Given the description of an element on the screen output the (x, y) to click on. 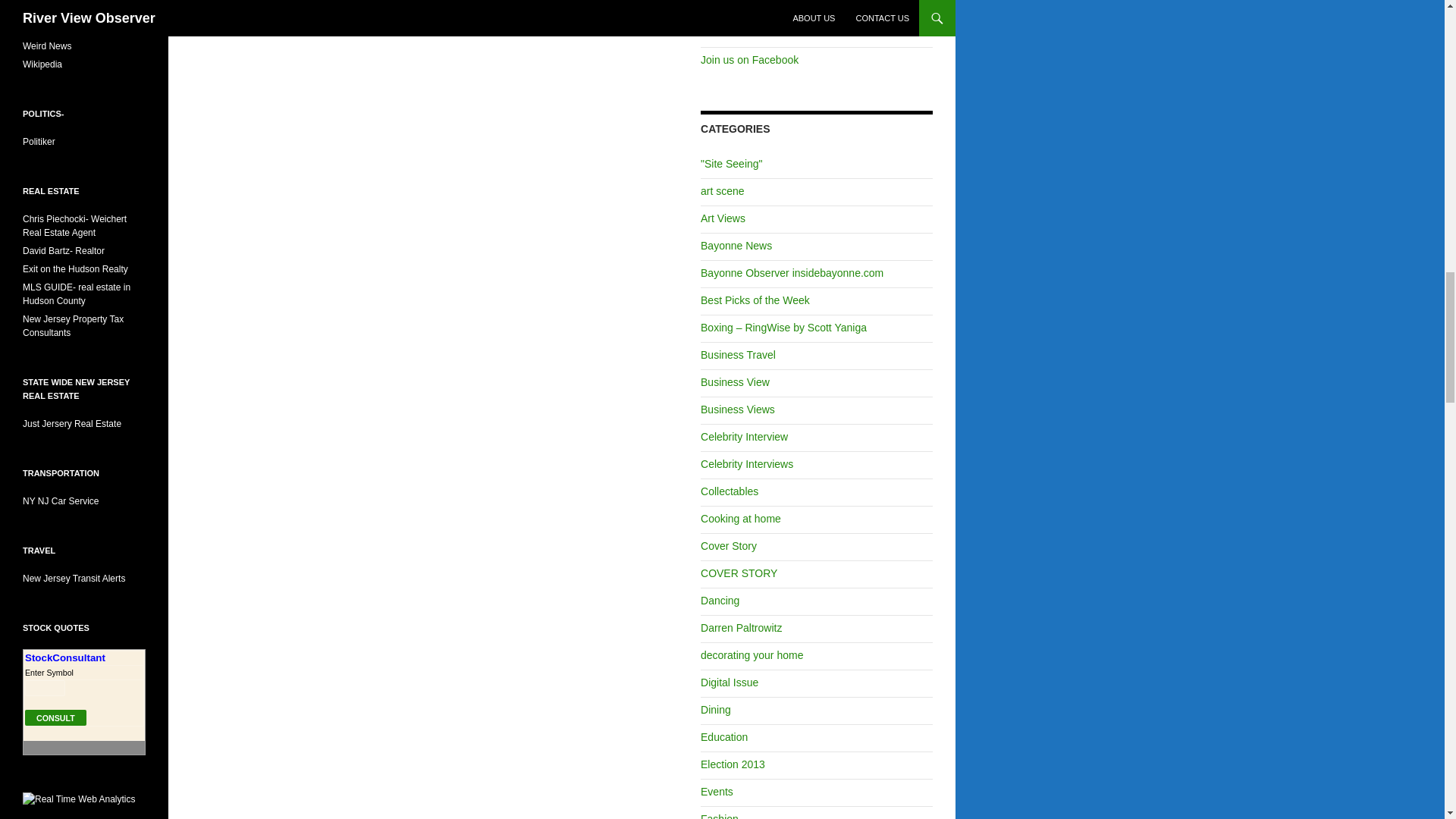
Consult (54, 717)
